Given the description of an element on the screen output the (x, y) to click on. 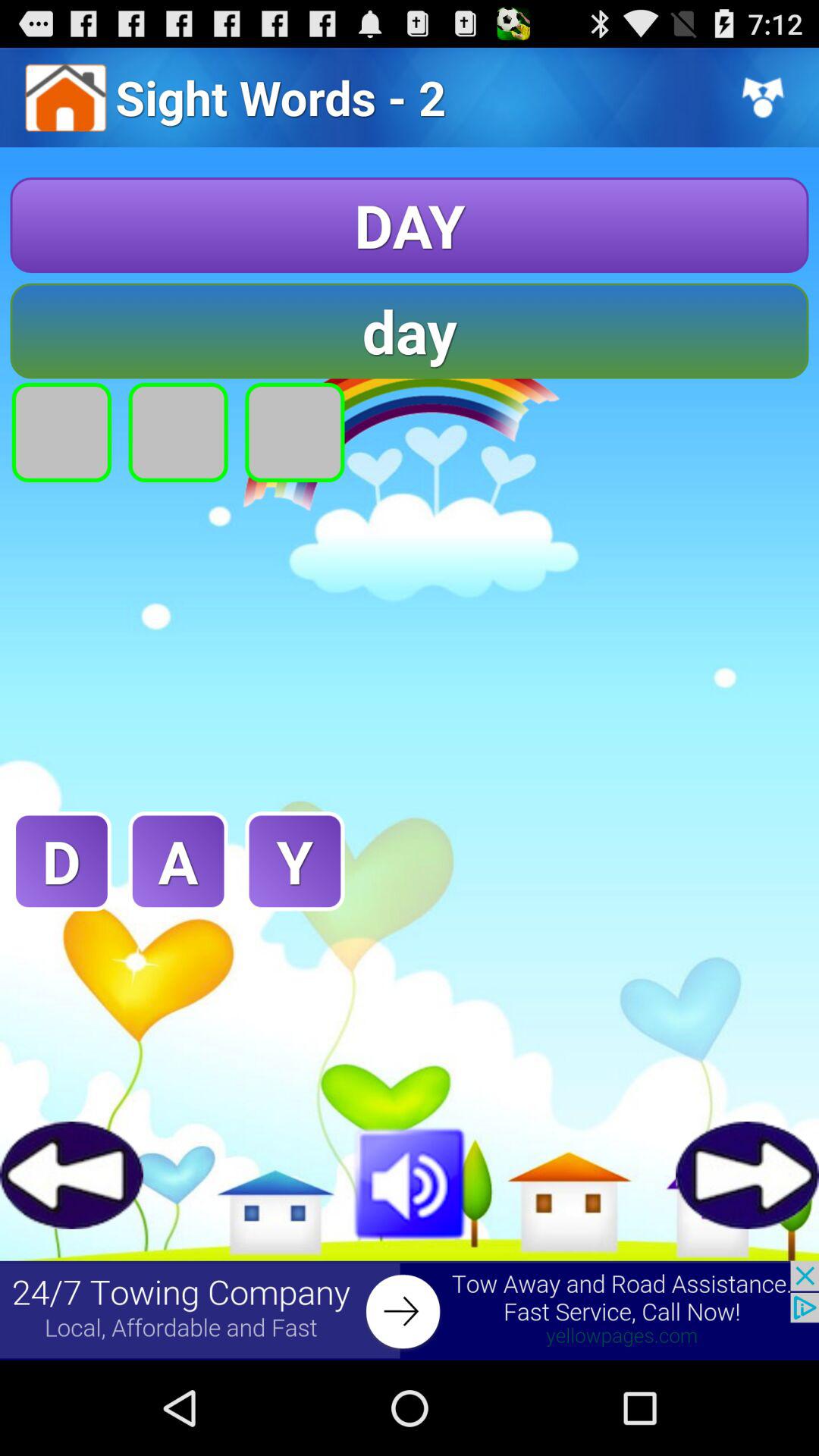
go back (71, 1175)
